Given the description of an element on the screen output the (x, y) to click on. 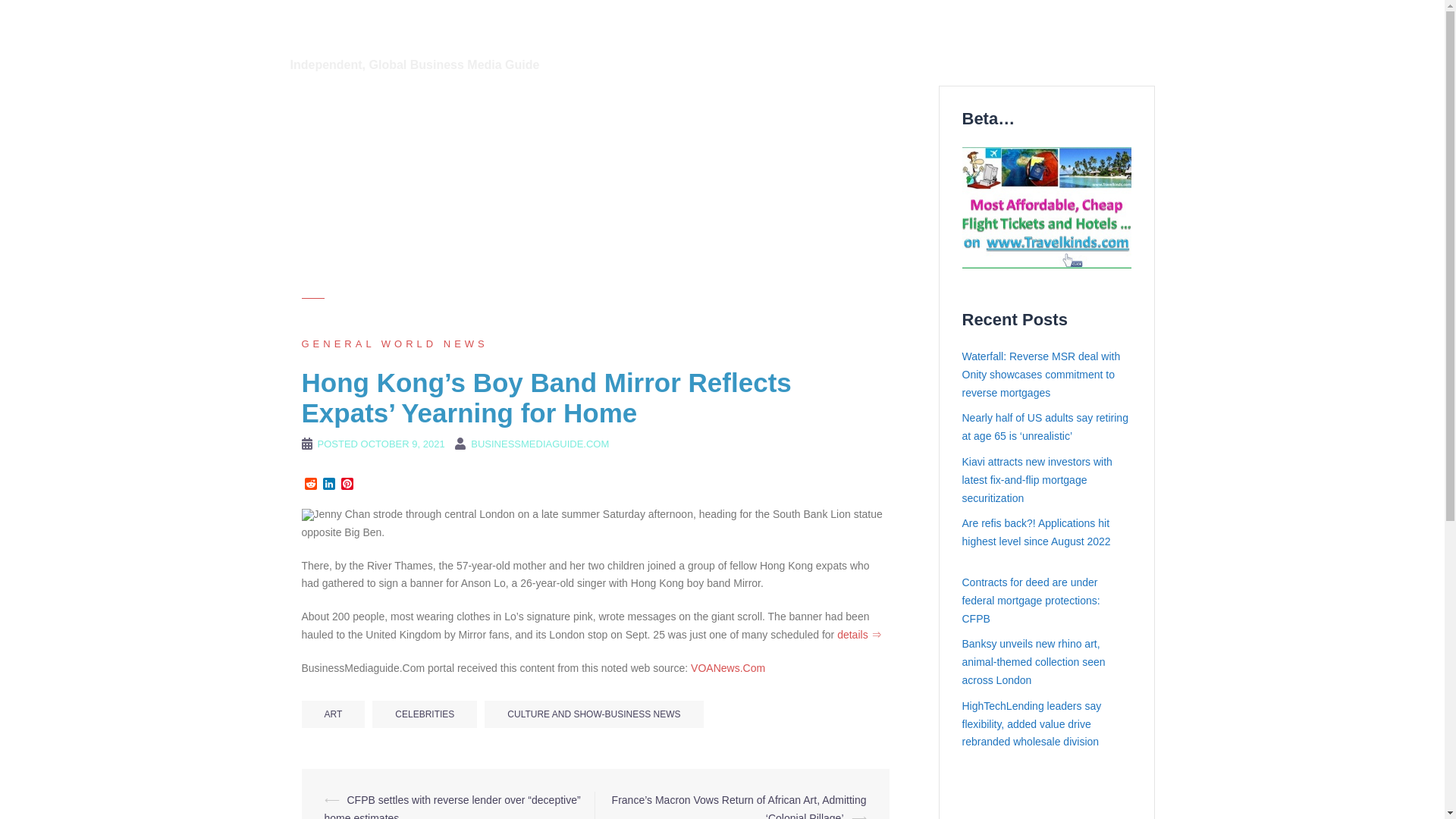
ART (333, 714)
CELEBRITIES (424, 714)
Culture and show-business news (821, 27)
Advertisement (595, 191)
VOANews.Com (727, 667)
BusinessMediaguide.Com (440, 29)
General World News (394, 343)
Great Britain Newspapers (803, 45)
